Given the description of an element on the screen output the (x, y) to click on. 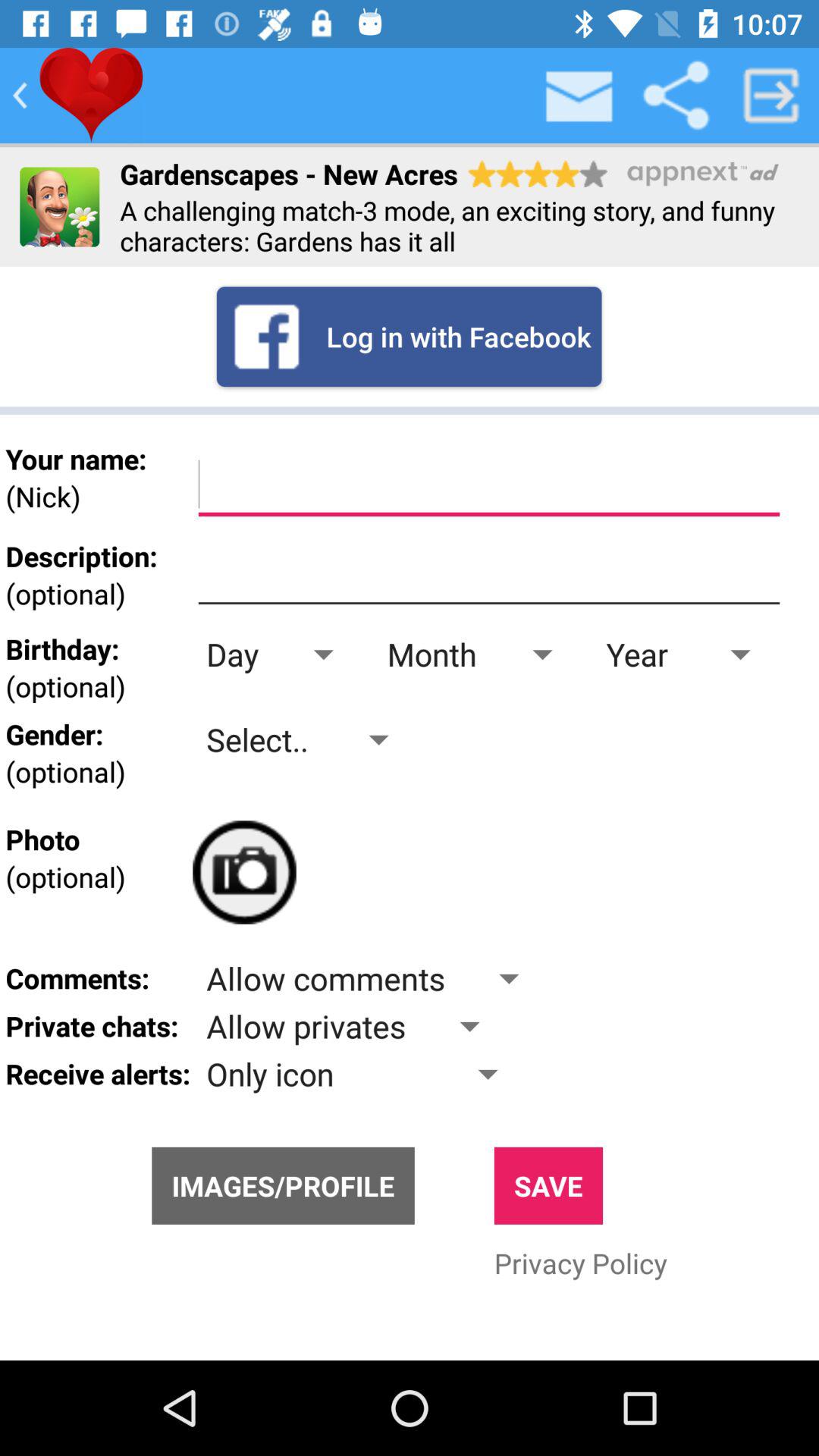
move forward (771, 95)
